Given the description of an element on the screen output the (x, y) to click on. 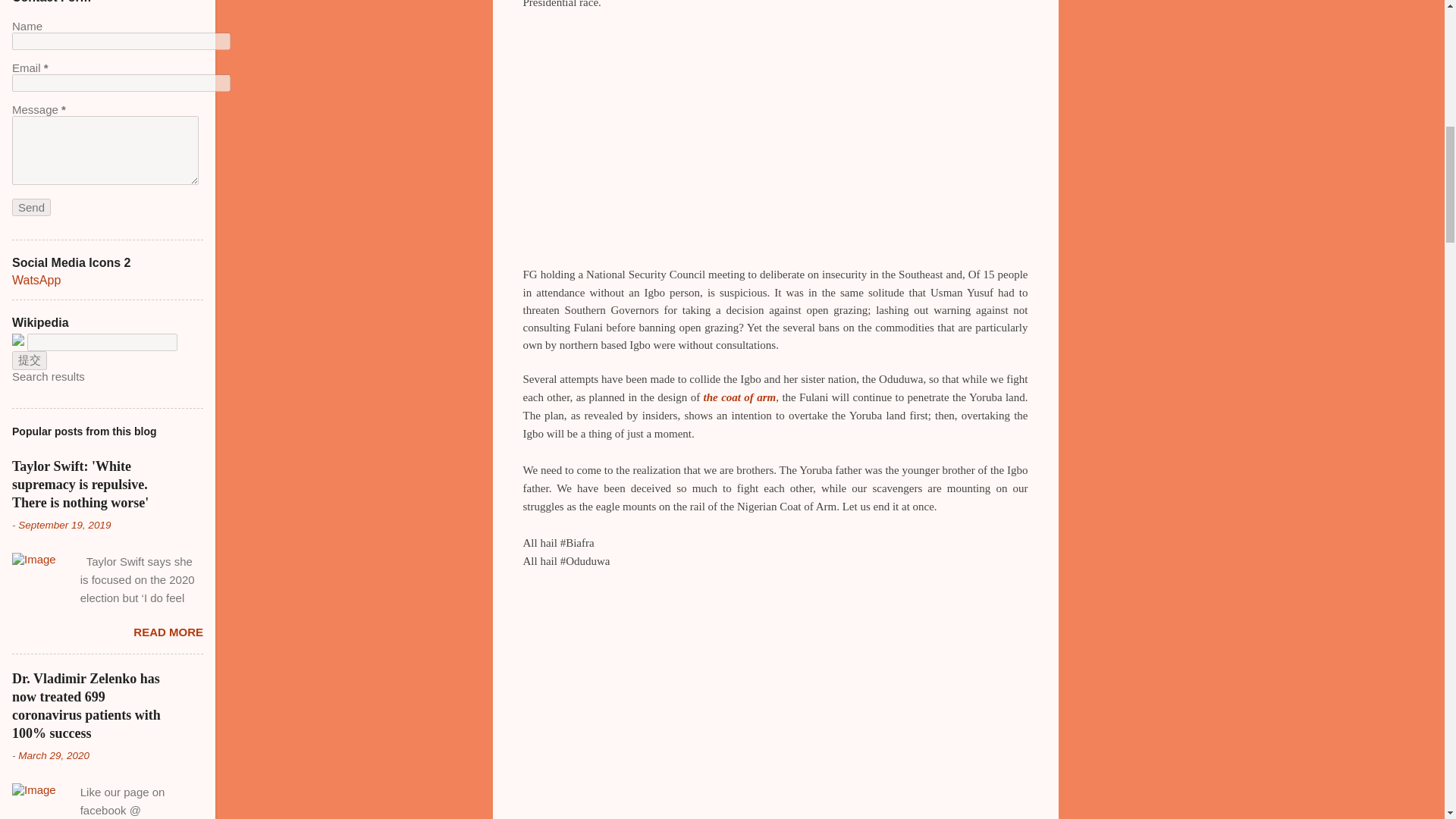
Advertisement (1118, 98)
Send (30, 207)
the coat of arm (739, 397)
